Given the description of an element on the screen output the (x, y) to click on. 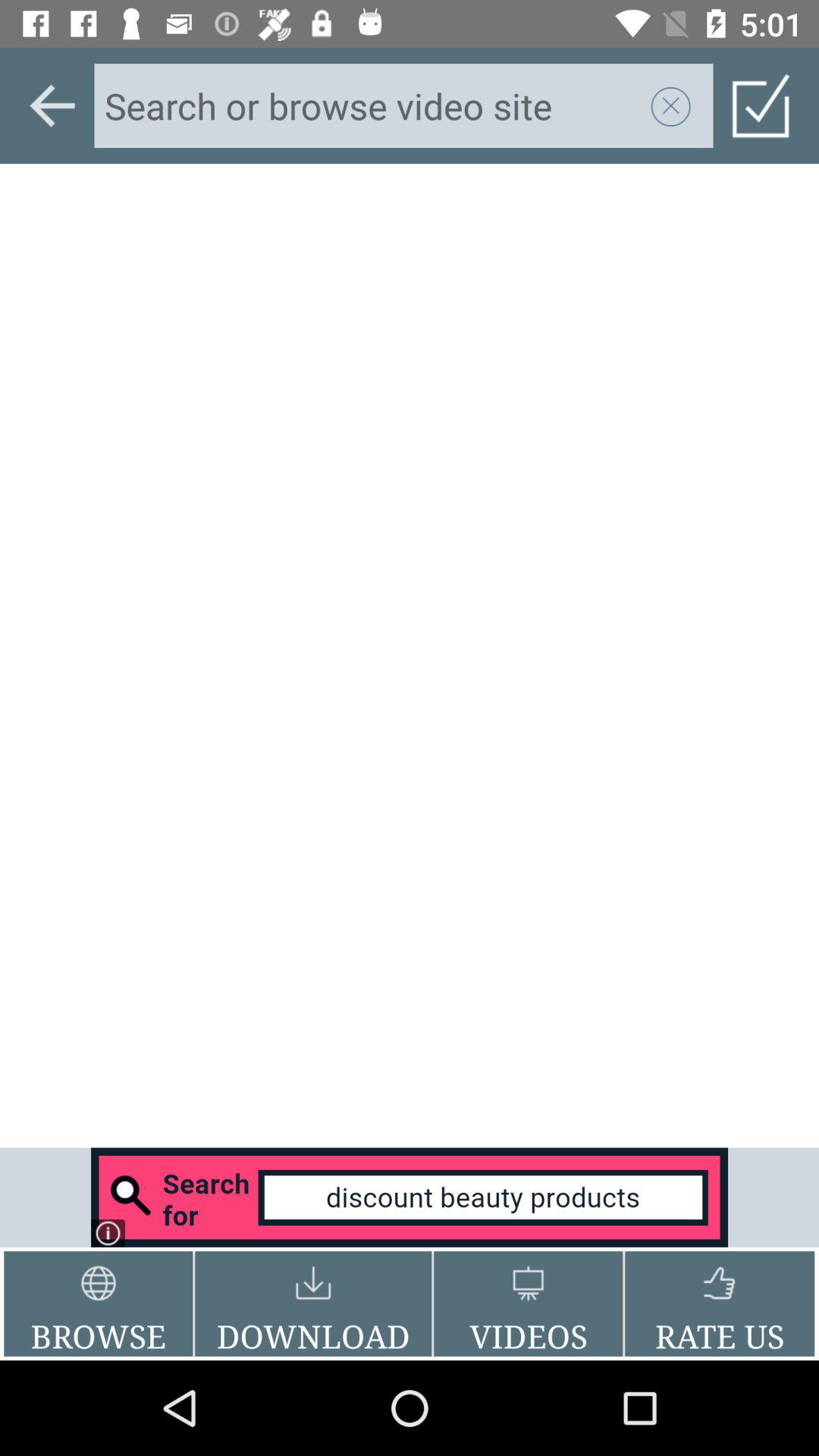
flip until rate us button (719, 1303)
